Given the description of an element on the screen output the (x, y) to click on. 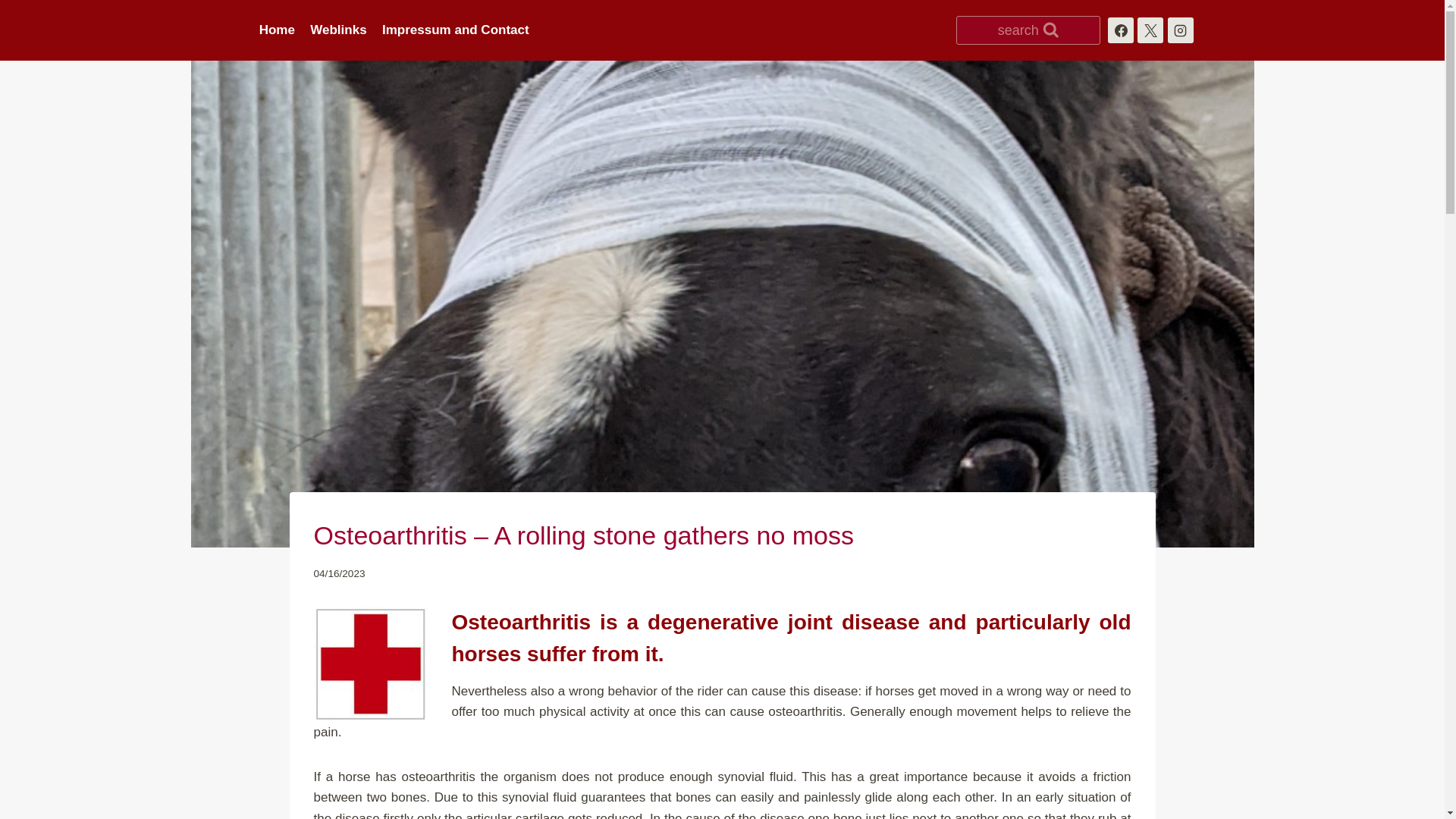
search (1028, 30)
Impressum and Contact (455, 29)
Weblinks (338, 29)
Home (276, 29)
